Given the description of an element on the screen output the (x, y) to click on. 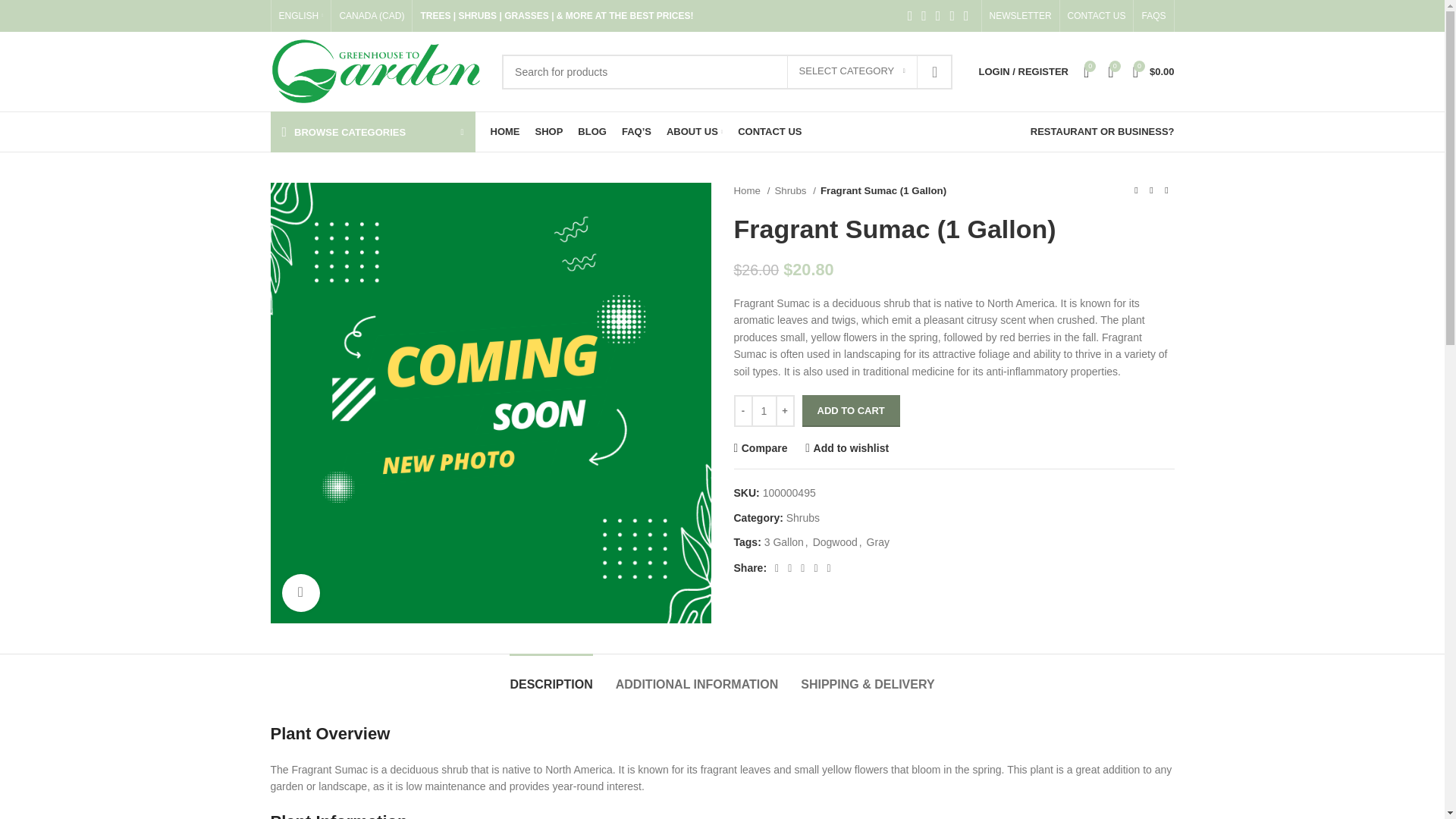
NEWSLETTER (1020, 15)
Search for products (727, 71)
My account (1023, 71)
Shopping cart (1153, 71)
SELECT CATEGORY (852, 71)
ENGLISH (301, 15)
CONTACT US (1096, 15)
SELECT CATEGORY (852, 71)
